Given the description of an element on the screen output the (x, y) to click on. 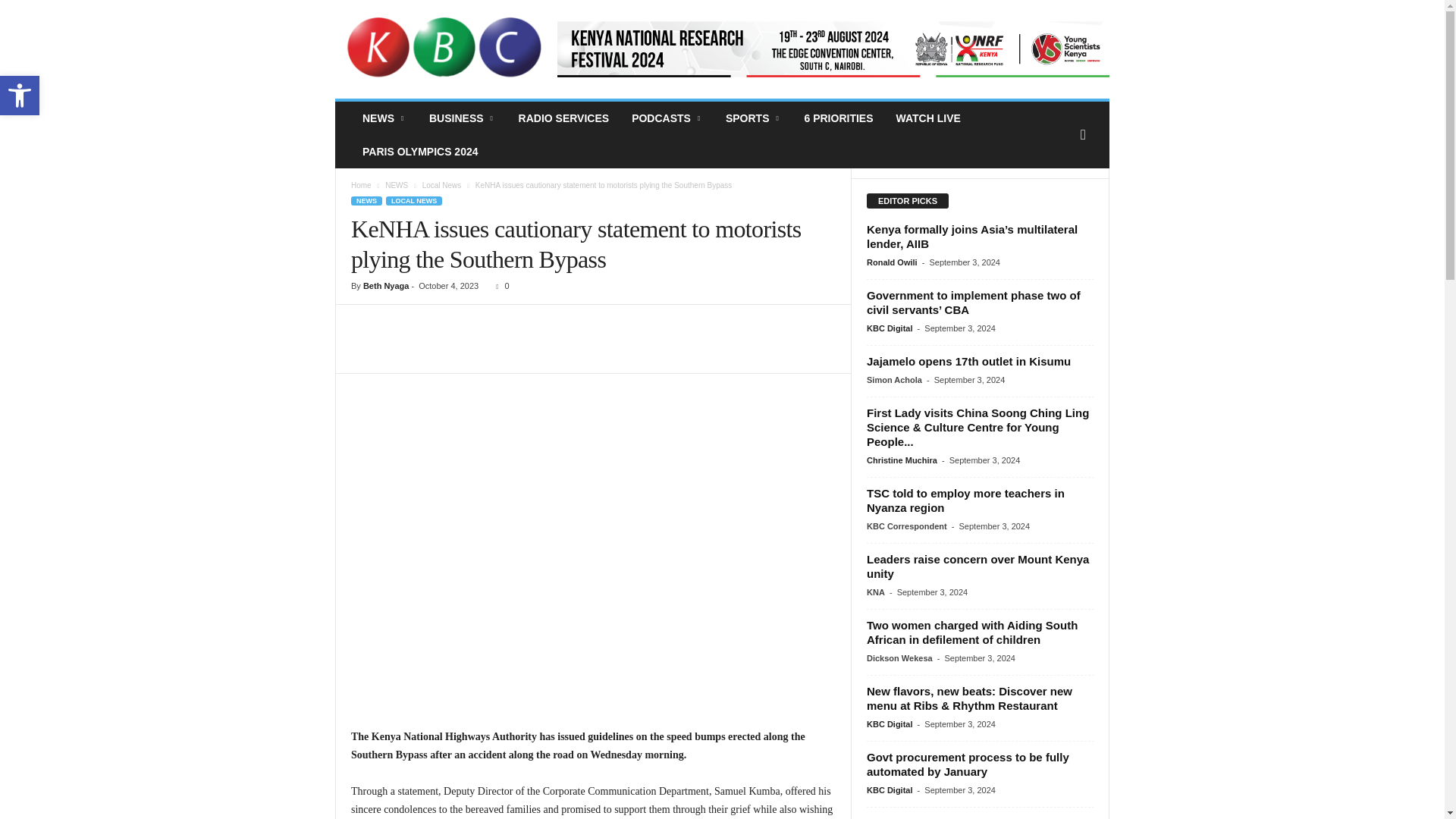
Accessibility Tools (19, 95)
Accessibility Tools (19, 95)
